Given the description of an element on the screen output the (x, y) to click on. 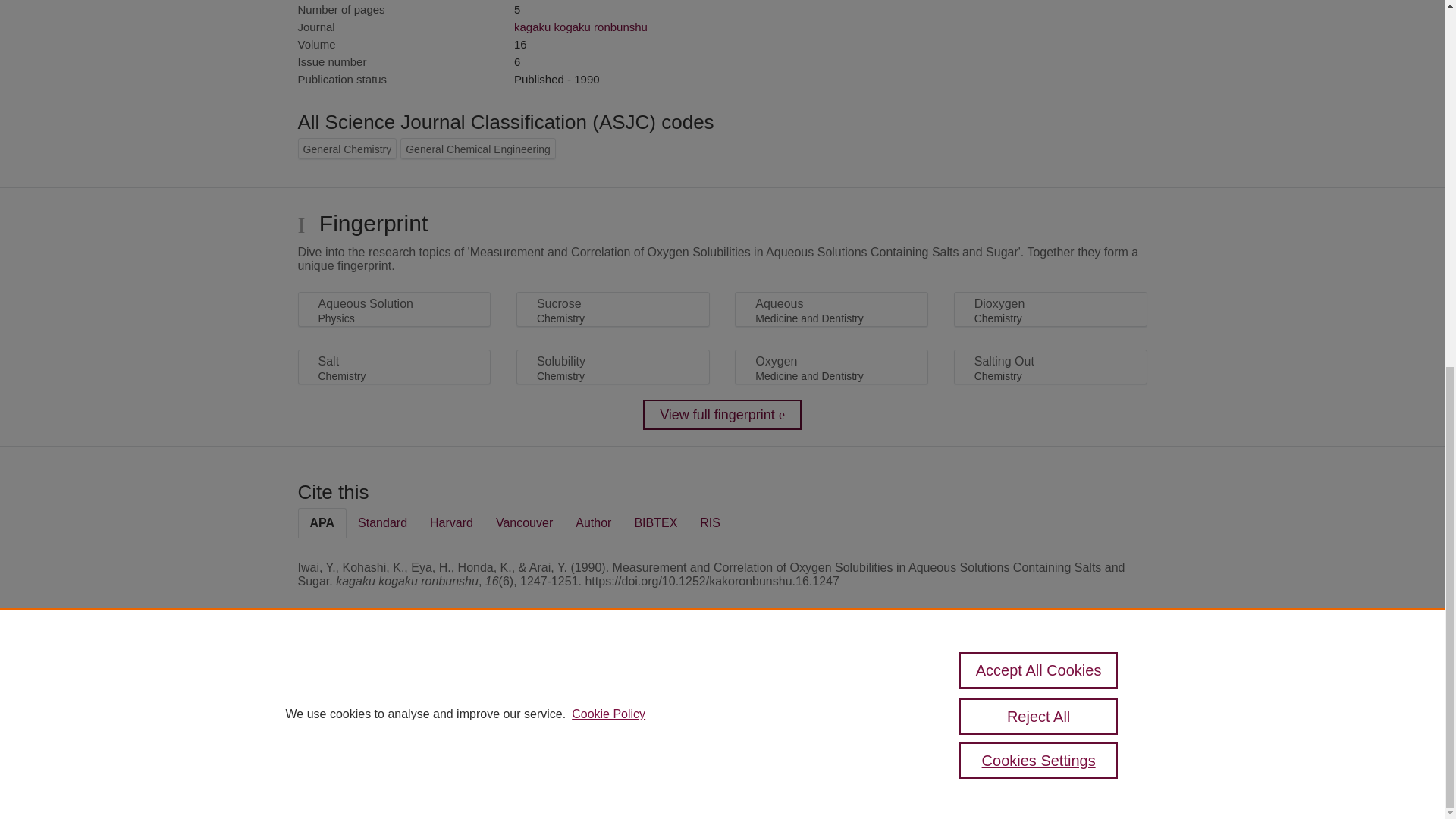
Elsevier B.V. (506, 707)
Pure (362, 686)
Scopus (394, 686)
kagaku kogaku ronbunshu (580, 26)
View full fingerprint (722, 414)
